Given the description of an element on the screen output the (x, y) to click on. 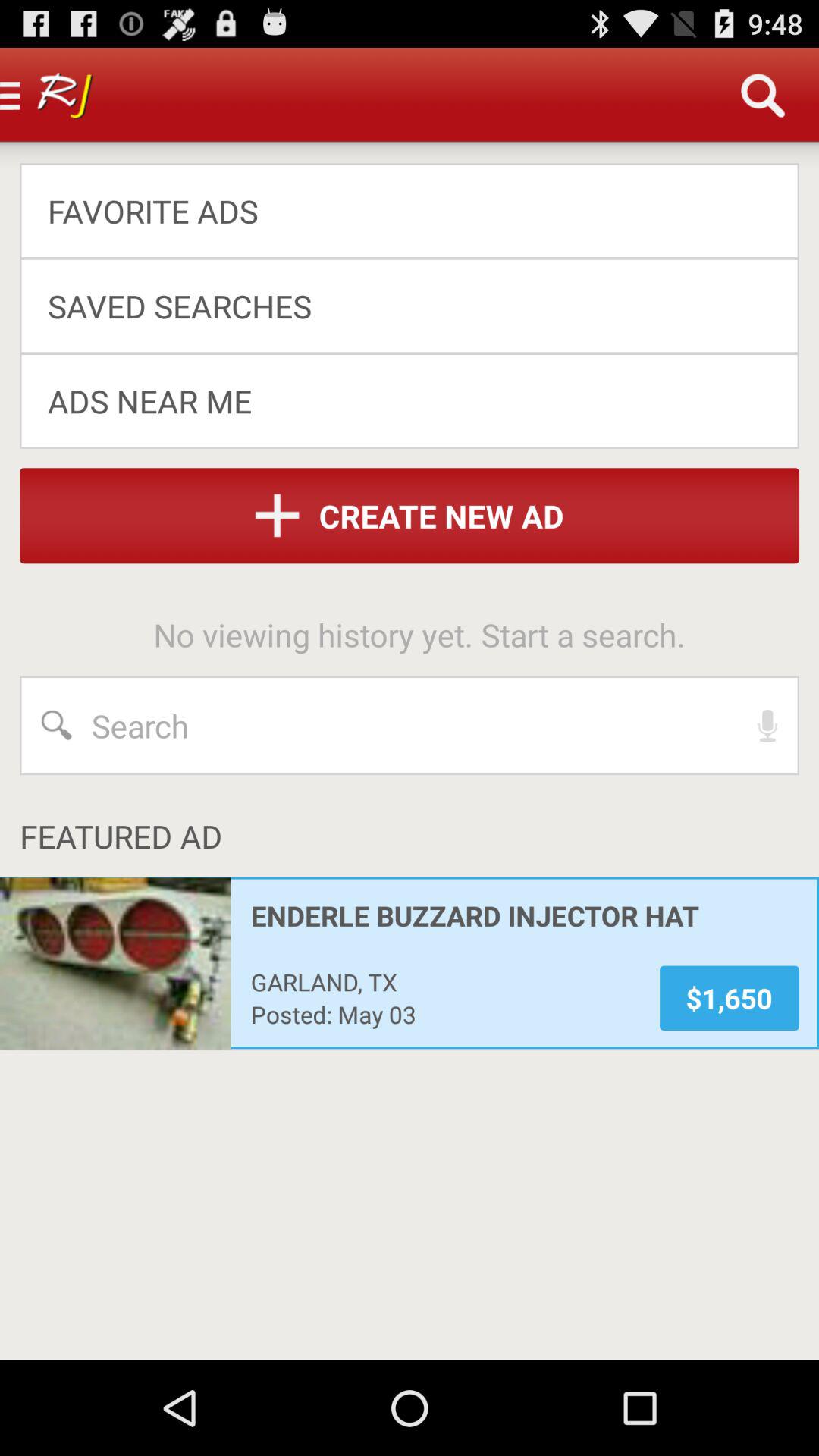
press the icon below garland, tx (444, 1014)
